Given the description of an element on the screen output the (x, y) to click on. 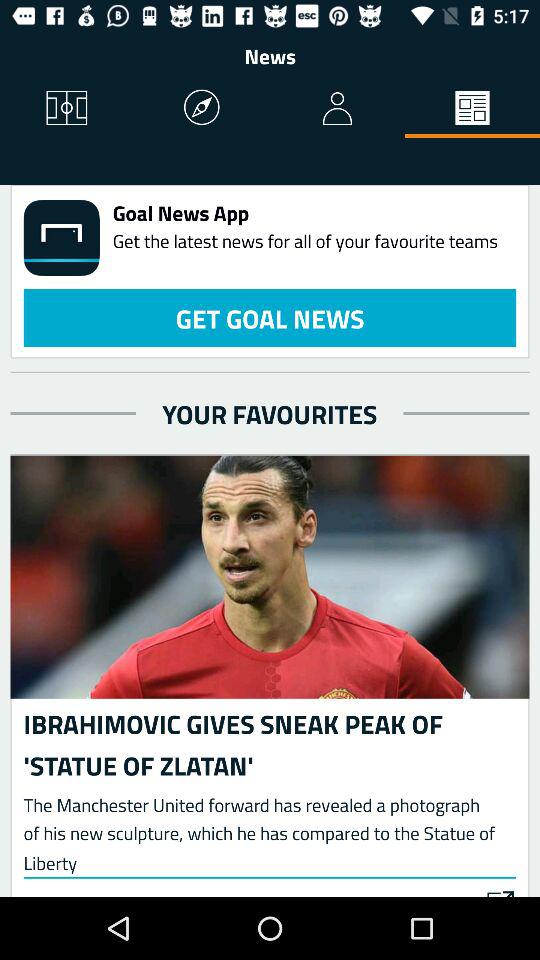
press icon above the goal news app icon (337, 108)
